Given the description of an element on the screen output the (x, y) to click on. 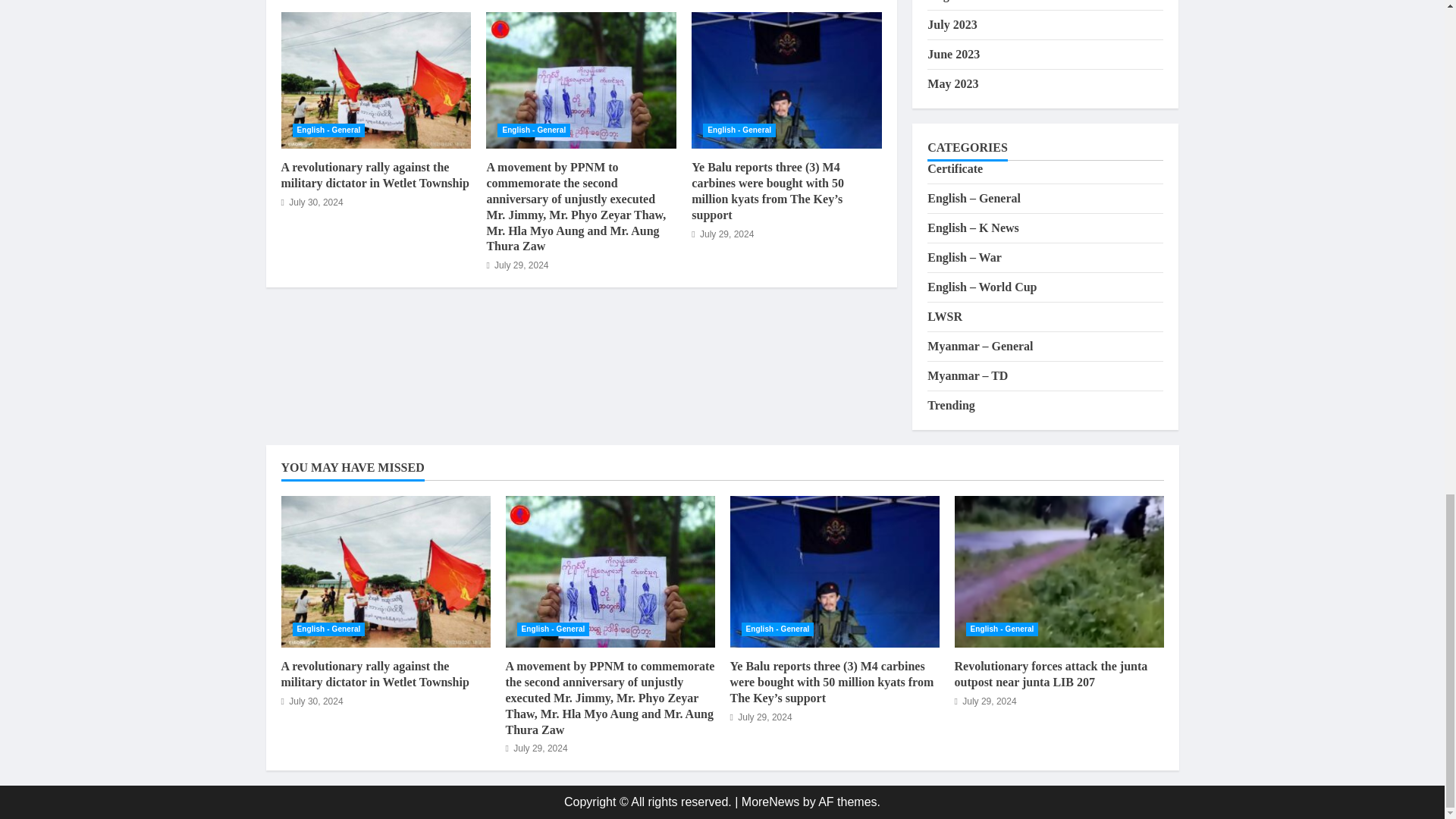
English - General (739, 130)
English - General (328, 130)
English - General (533, 130)
